Given the description of an element on the screen output the (x, y) to click on. 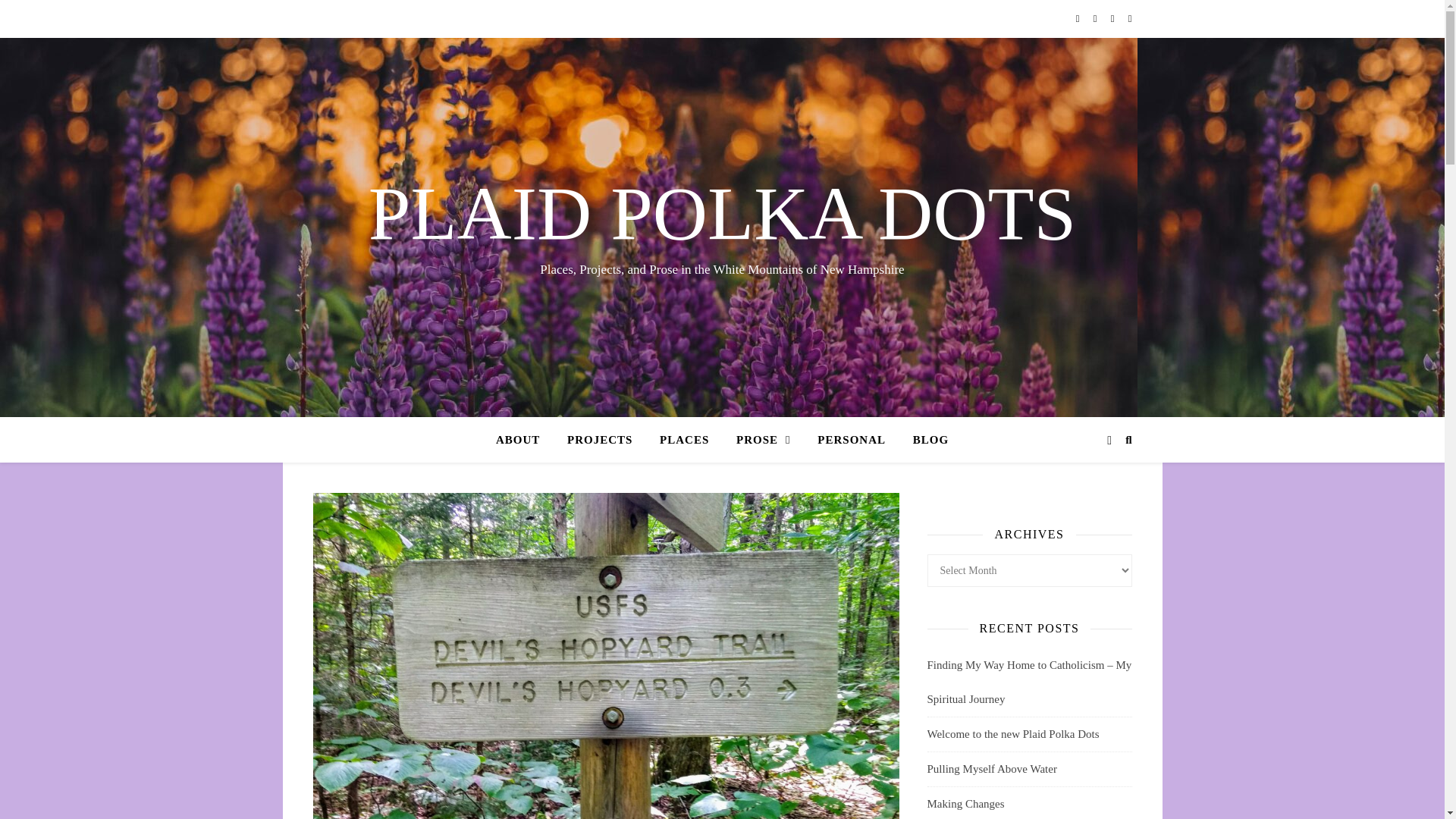
BLOG (925, 439)
ABOUT (523, 439)
PROJECTS (599, 439)
PERSONAL (851, 439)
PLACES (683, 439)
PROSE (763, 439)
